Given the description of an element on the screen output the (x, y) to click on. 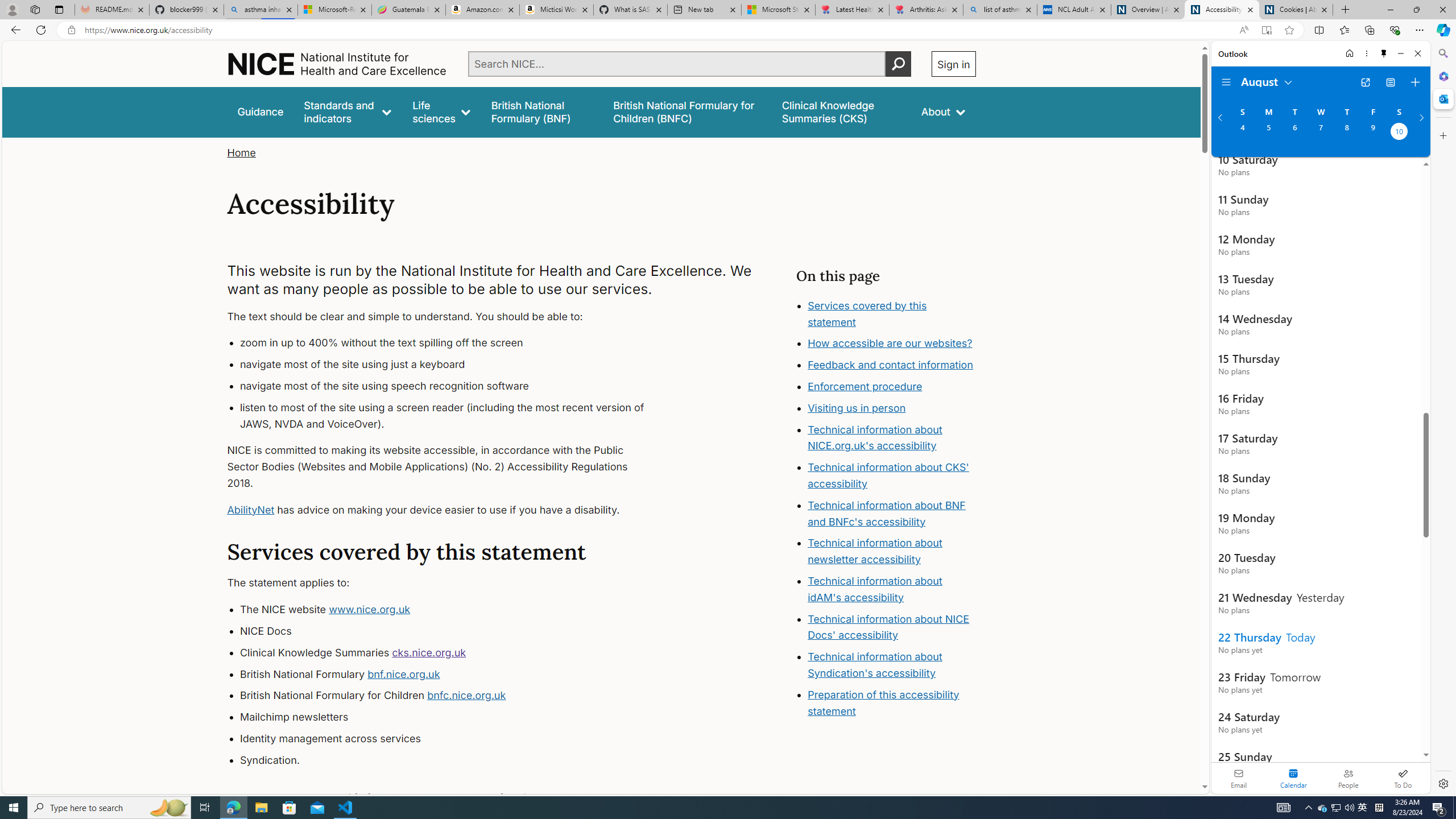
Enforcement procedure (891, 386)
Cookies | About | NICE (1295, 9)
Tuesday, August 6, 2024.  (1294, 132)
People (1347, 777)
British National Formulary bnf.nice.org.uk (452, 674)
Technical information about BNF and BNFc's accessibility (886, 512)
NCL Adult Asthma Inhaler Choice Guideline (1073, 9)
View Switcher. Current view is Agenda view (1390, 82)
Guidance (260, 111)
To Do (1402, 777)
